Given the description of an element on the screen output the (x, y) to click on. 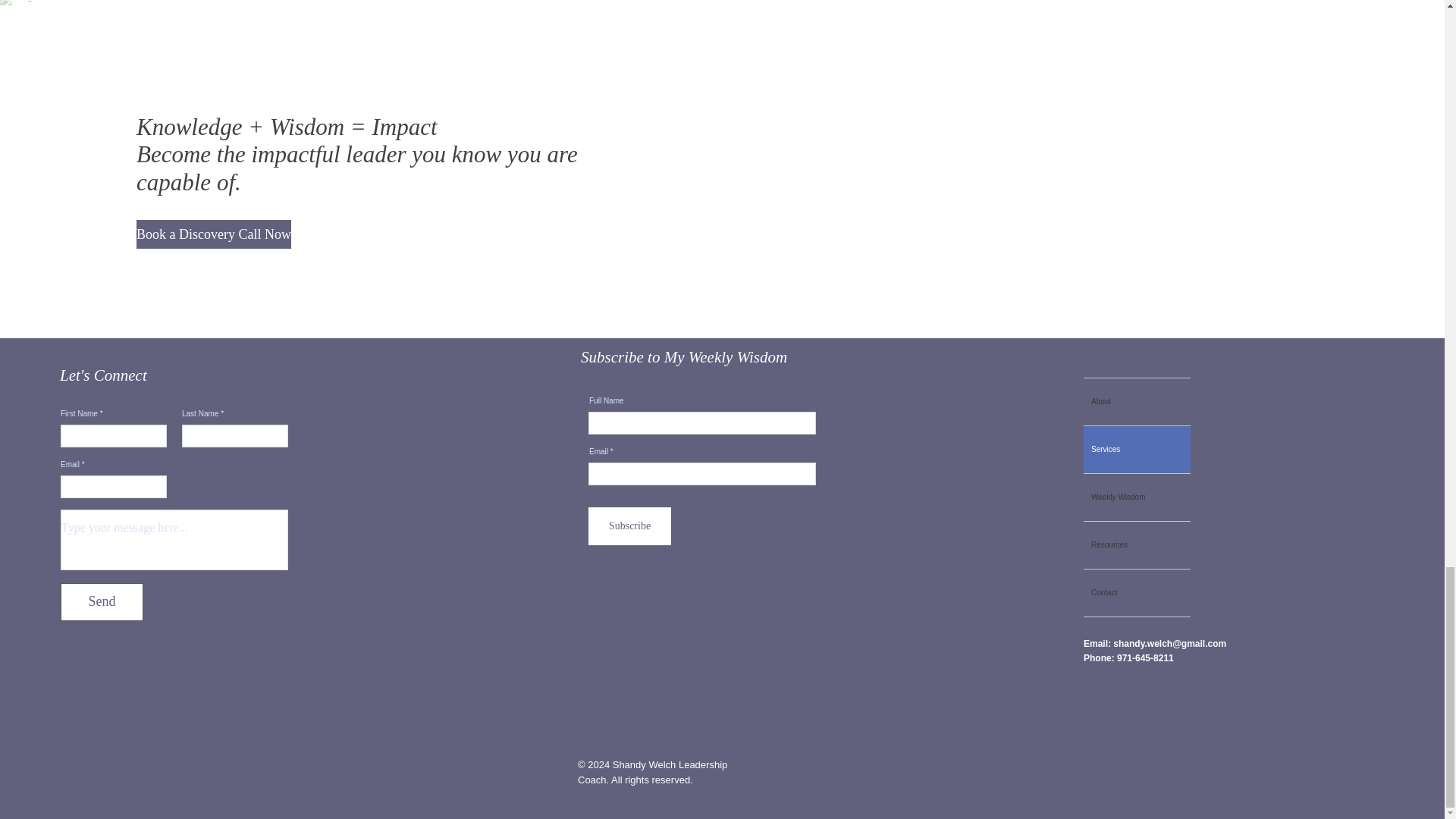
Contact (1137, 592)
Weekly Wisdom (1137, 497)
Book a Discovery Call Now (213, 234)
Send (101, 601)
About (1137, 401)
Subscribe (629, 525)
Services (1137, 449)
Resources (1137, 544)
